Given the description of an element on the screen output the (x, y) to click on. 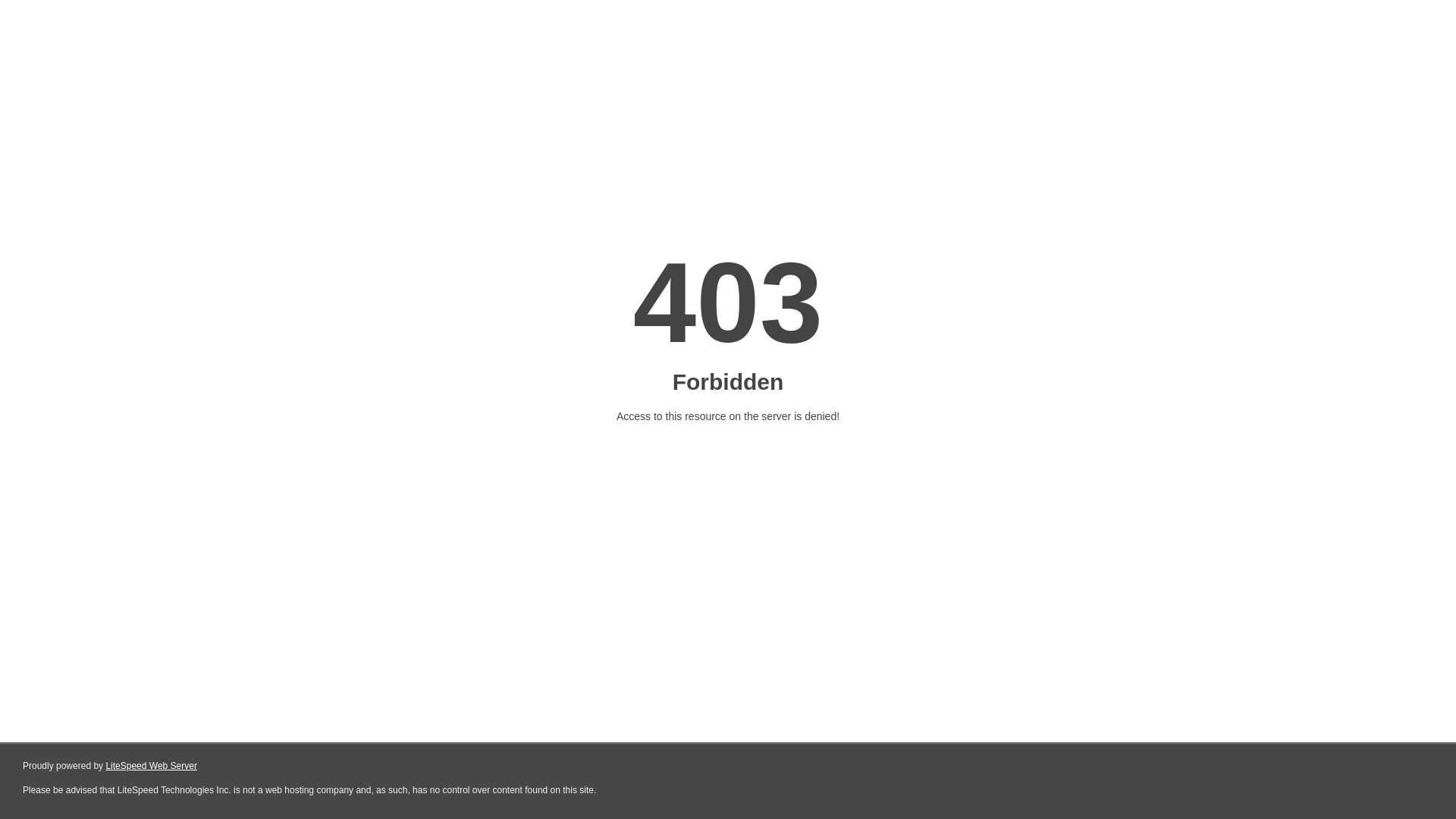
LiteSpeed Web Server Element type: text (151, 765)
